Given the description of an element on the screen output the (x, y) to click on. 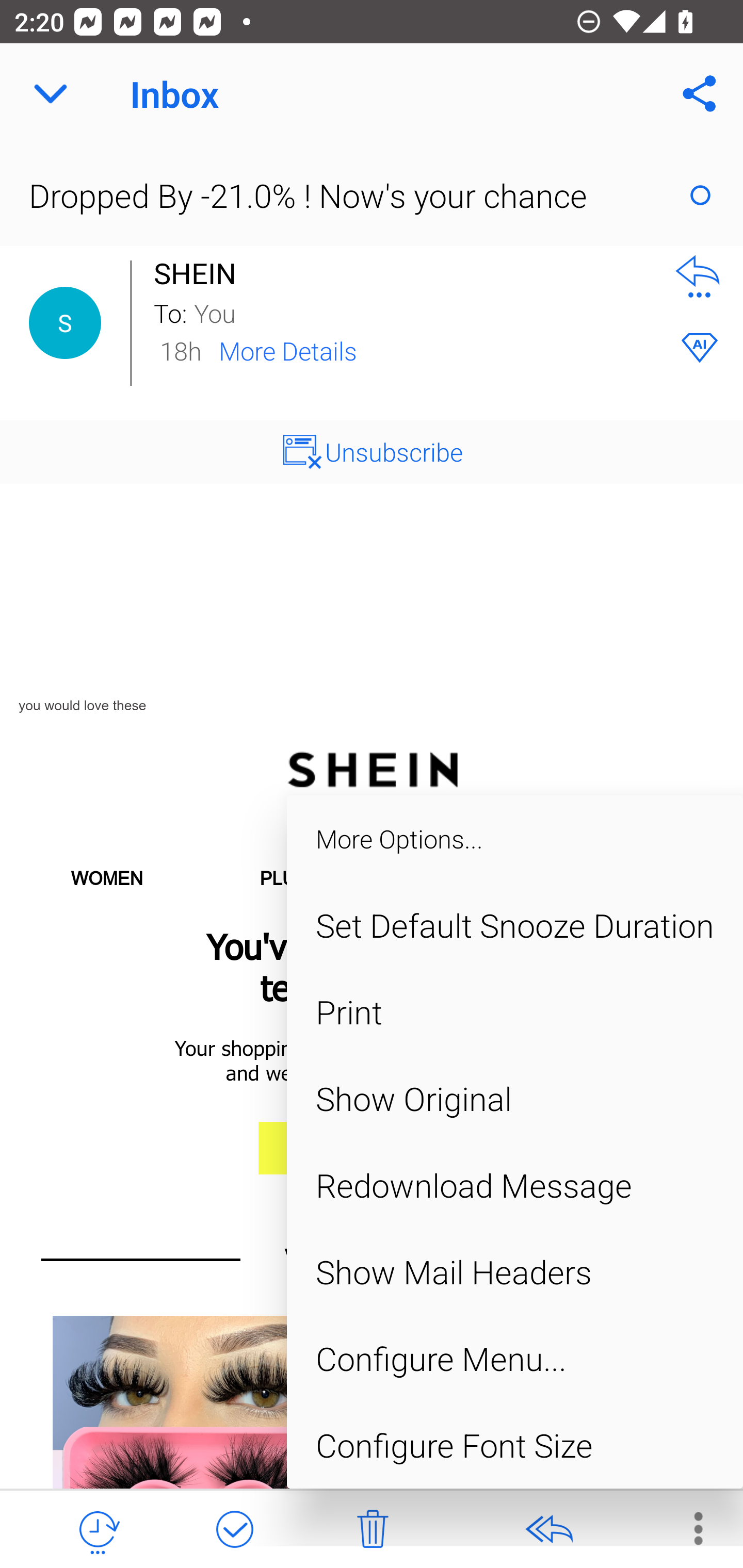
Set Default Snooze Duration (514, 925)
Print (514, 1012)
Show Original (514, 1098)
Redownload Message (514, 1185)
Show Mail Headers (514, 1272)
Configure Menu... (514, 1358)
Configure Font Size (514, 1444)
